Given the description of an element on the screen output the (x, y) to click on. 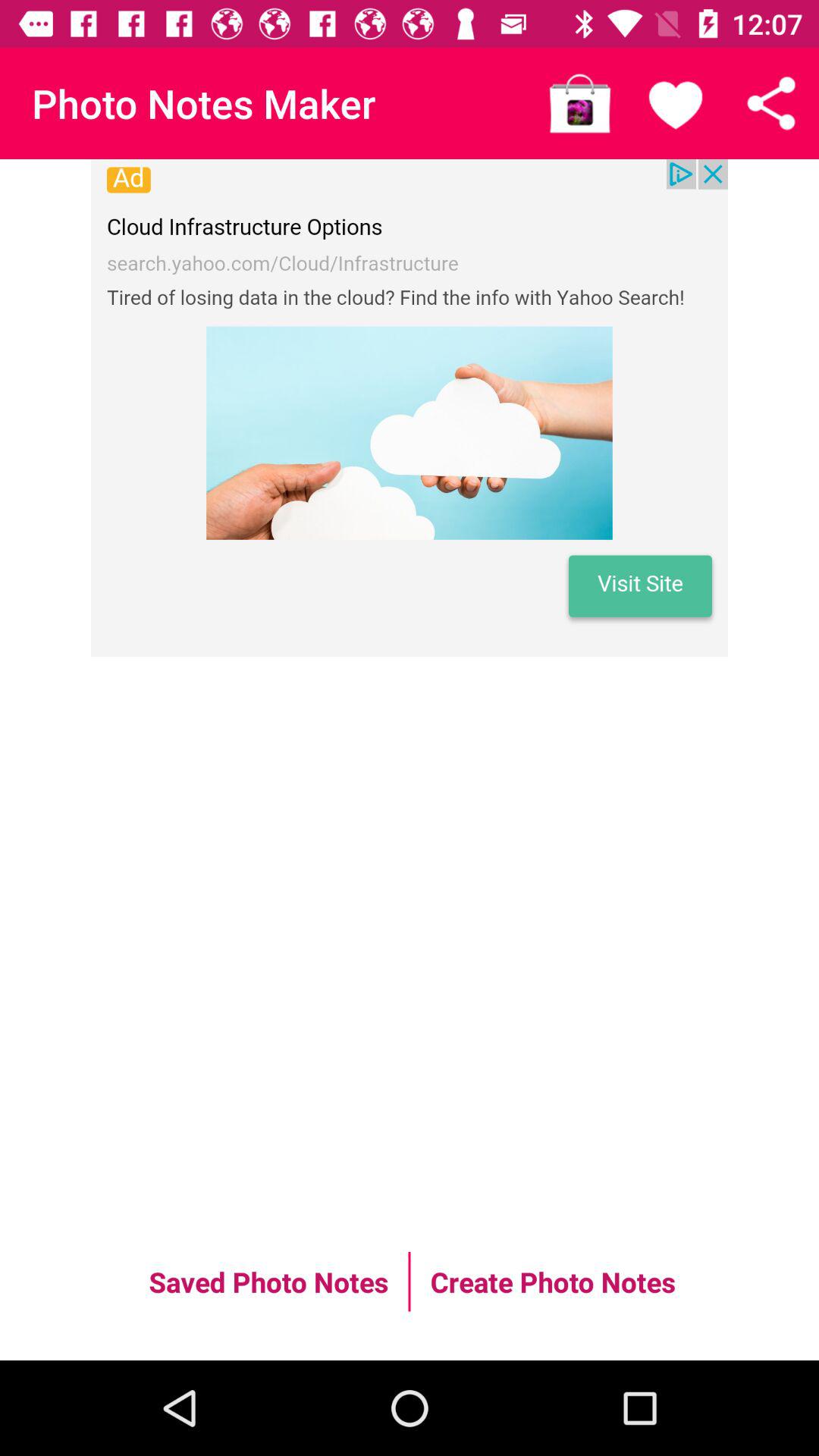
like the page (675, 103)
